Given the description of an element on the screen output the (x, y) to click on. 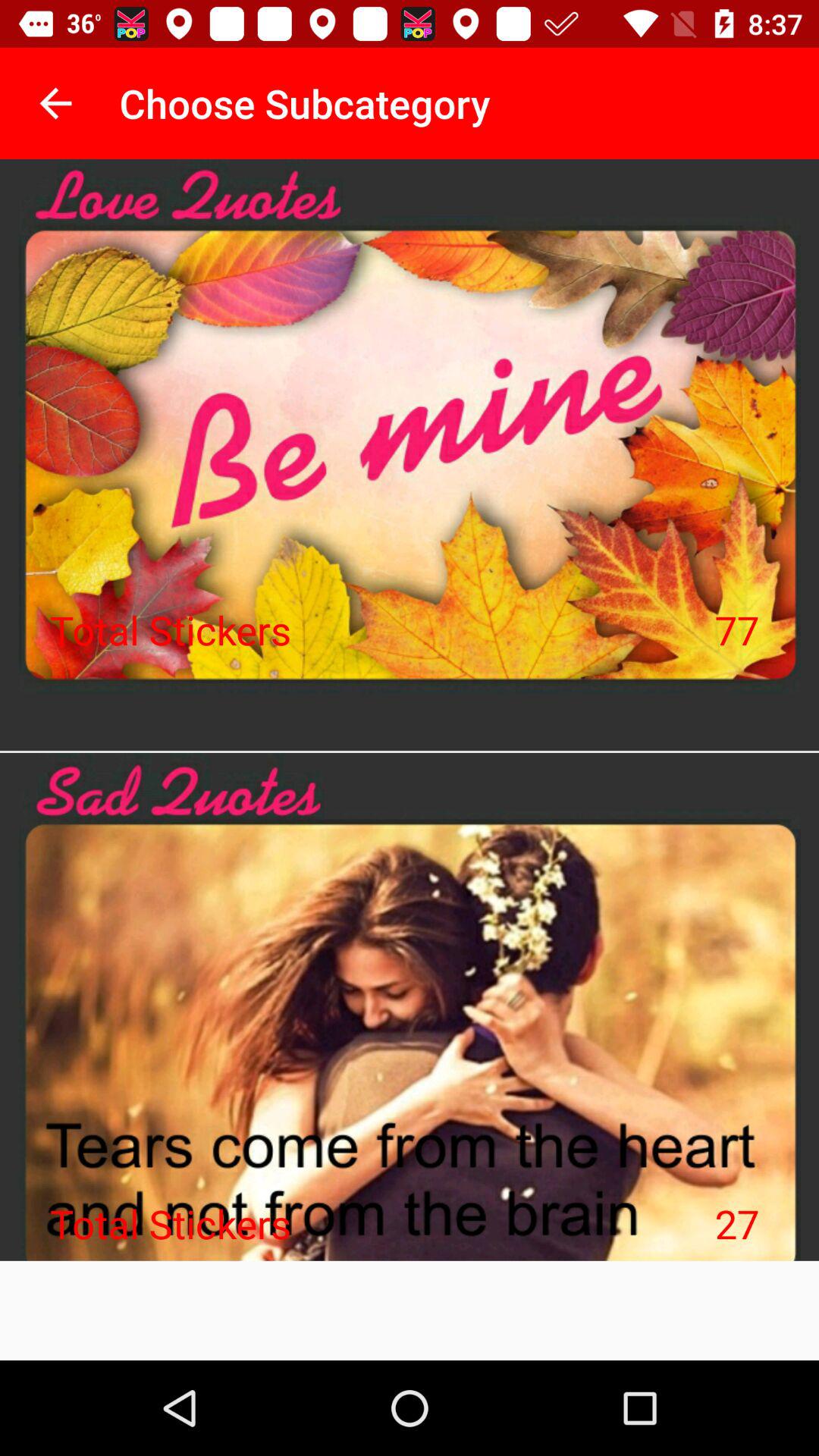
tap icon to the right of total stickers icon (736, 629)
